Given the description of an element on the screen output the (x, y) to click on. 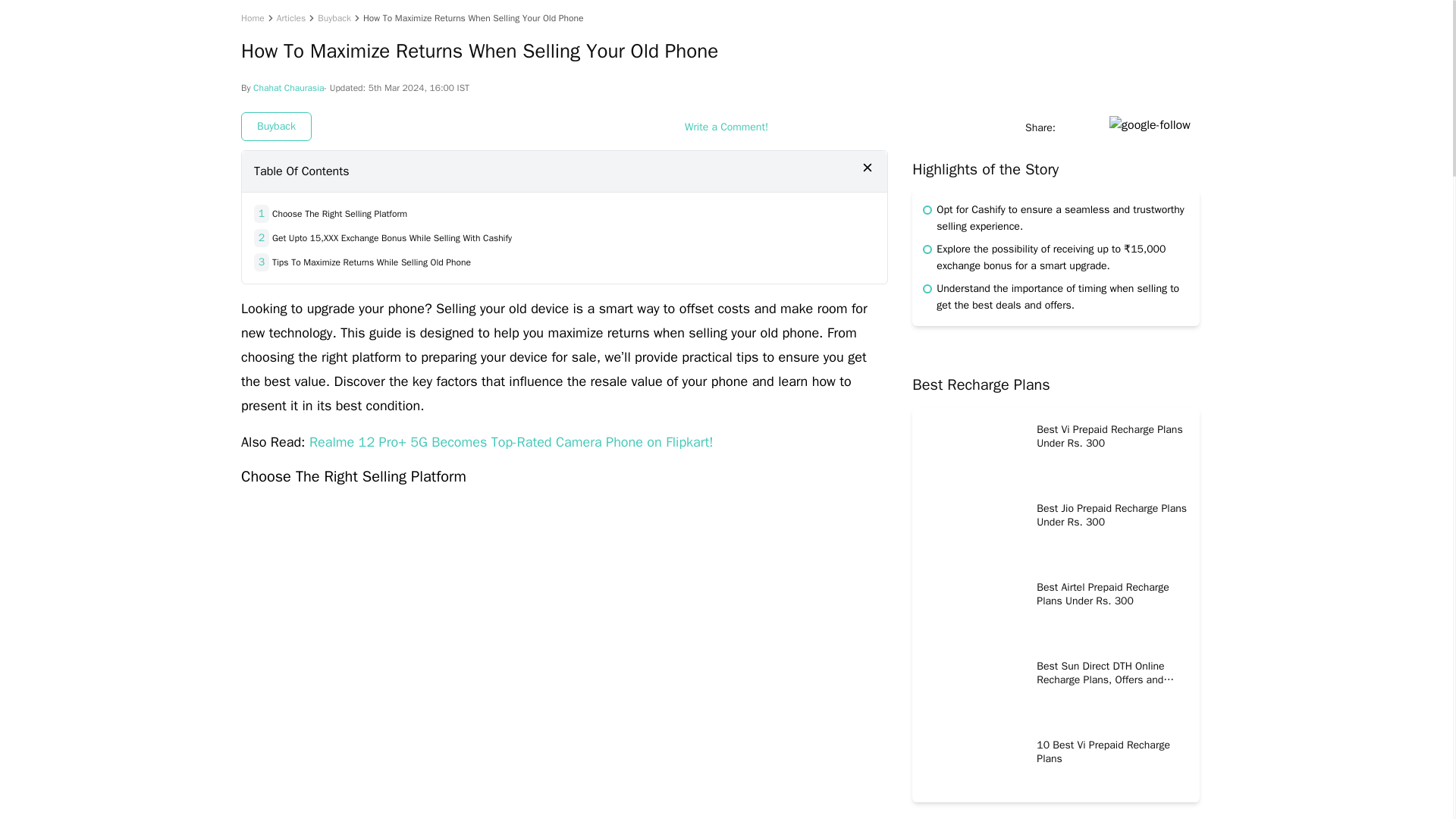
Buyback (333, 18)
Home (252, 18)
Articles (290, 18)
Home (252, 18)
Buyback (333, 18)
Write a Comment! (726, 126)
Chahat Chaurasia (288, 87)
Buyback (276, 126)
Articles (290, 18)
